Given the description of an element on the screen output the (x, y) to click on. 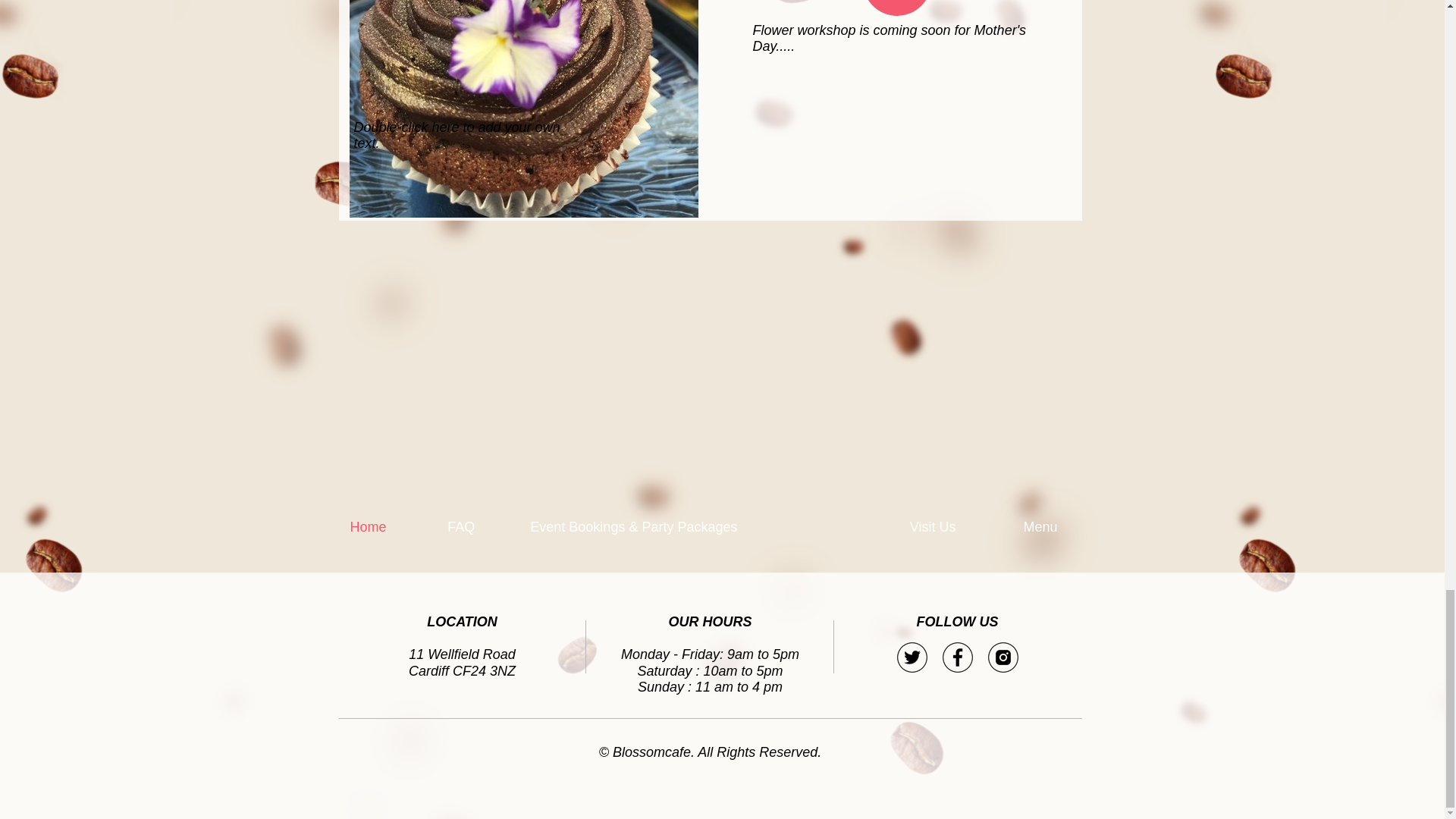
Visit Us (954, 527)
Home (386, 527)
Menu (1058, 527)
FAQ (476, 527)
